Given the description of an element on the screen output the (x, y) to click on. 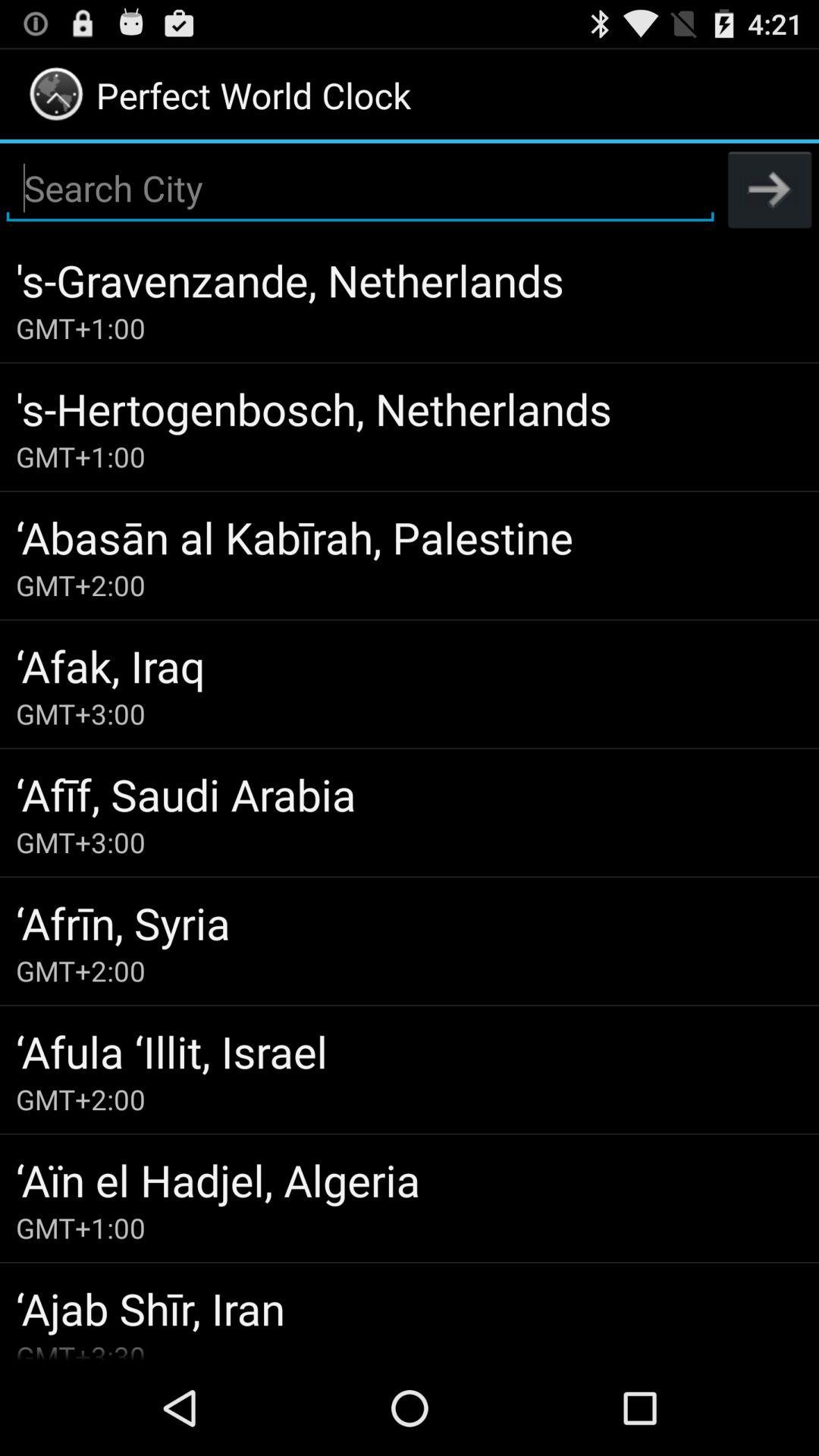
select app above 's-gravenzande, netherlands app (769, 188)
